Given the description of an element on the screen output the (x, y) to click on. 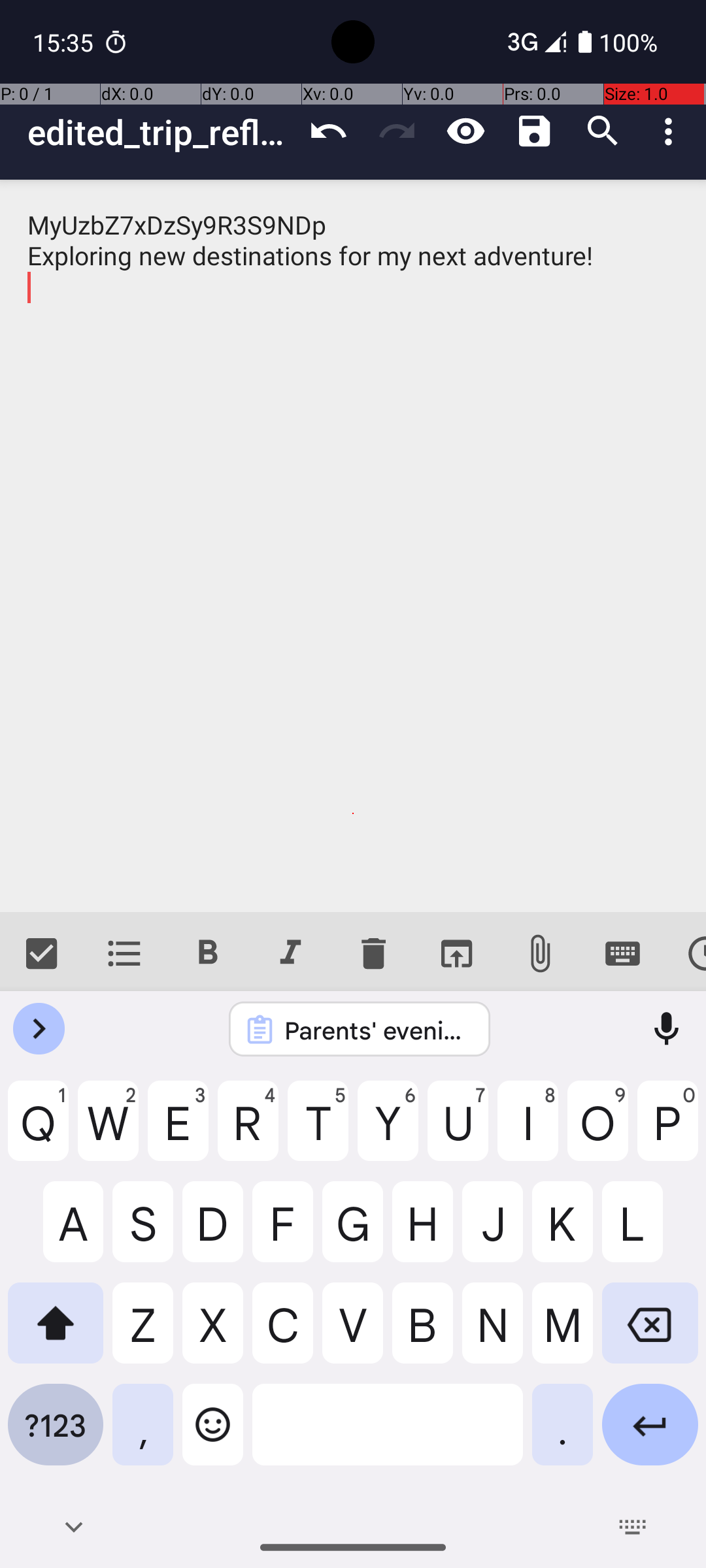
edited_trip_reflections_recent Element type: android.widget.TextView (160, 131)
MyUzbZ7xDzSy9R3S9NDp
Exploring new destinations for my next adventure!
 Element type: android.widget.EditText (353, 545)
Parents' evening at school this Wednesday. Element type: android.widget.TextView (376, 1029)
